Given the description of an element on the screen output the (x, y) to click on. 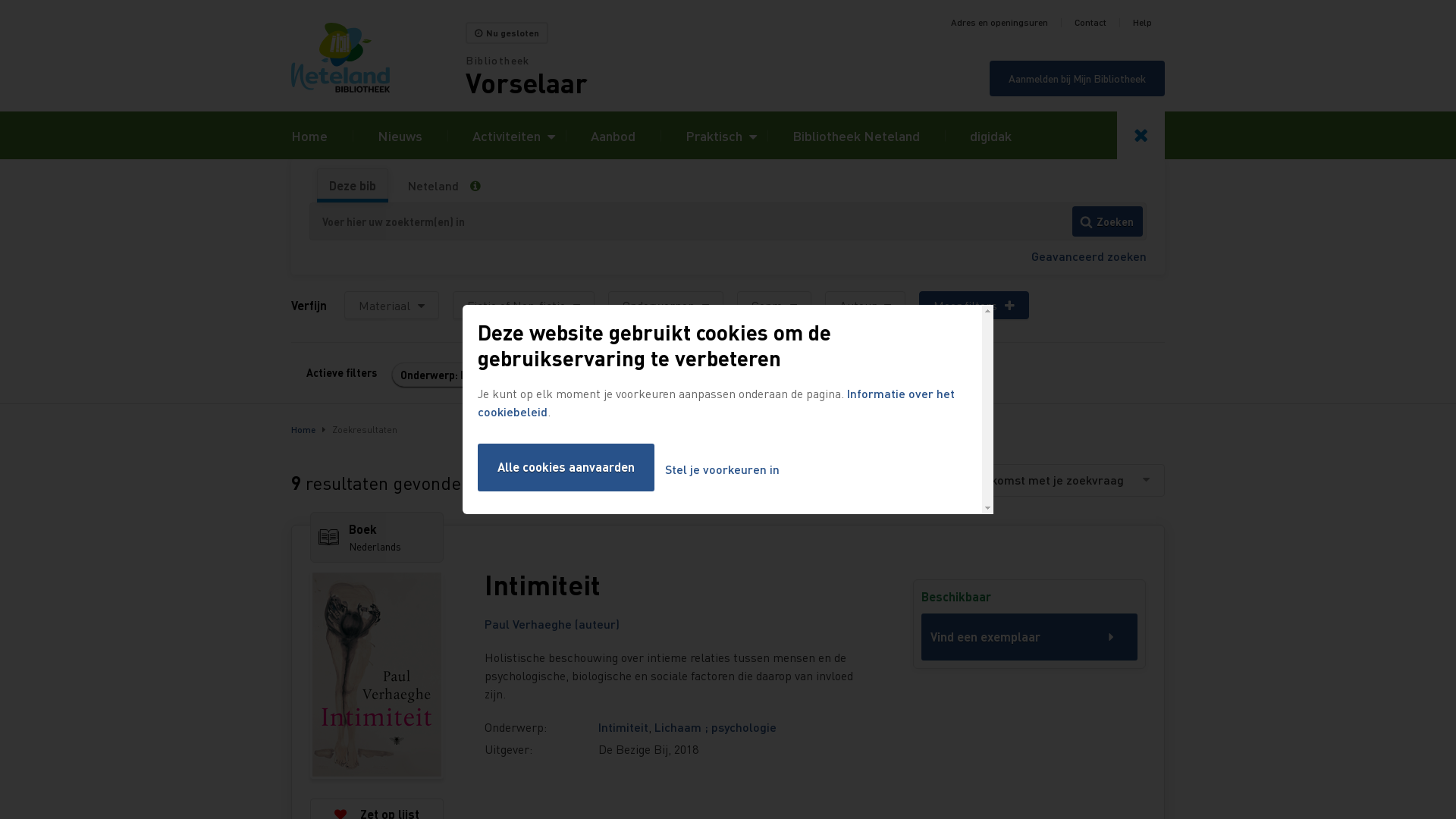
Geavanceerd zoeken Element type: text (1088, 255)
Help Element type: text (1141, 22)
digidak Element type: text (990, 135)
Nu gesloten Element type: text (506, 32)
Toggle search Element type: hover (1140, 135)
Home Element type: hover (378, 57)
Home Element type: text (309, 135)
Aanbod Element type: text (612, 135)
Vind een exemplaar Element type: text (1029, 636)
Stel je voorkeuren in Element type: text (722, 469)
Zoeken Element type: text (1107, 221)
Lichaam ; psychologie Element type: text (715, 726)
Overslaan en naar zoeken gaan Element type: text (0, 0)
Home Element type: text (303, 429)
Alle filters wissen Element type: text (586, 374)
Neteland Element type: text (433, 185)
Overeenkomst met je zoekvraag Element type: text (1050, 479)
Alle cookies aanvaarden Element type: text (565, 466)
Deze bib Element type: text (352, 185)
Meer informatie Element type: hover (481, 185)
Intimiteit Element type: text (676, 584)
Nieuws Element type: text (399, 135)
Informatie over het cookiebeleid Element type: text (715, 402)
Aanmelden bij Mijn Bibliotheek Element type: text (1076, 78)
Contact Element type: text (1090, 22)
Adres en openingsuren Element type: text (999, 22)
Intimiteit Element type: text (623, 726)
Paul Verhaeghe (auteur) Element type: text (551, 623)
Bibliotheek Neteland Element type: text (855, 135)
